Given the description of an element on the screen output the (x, y) to click on. 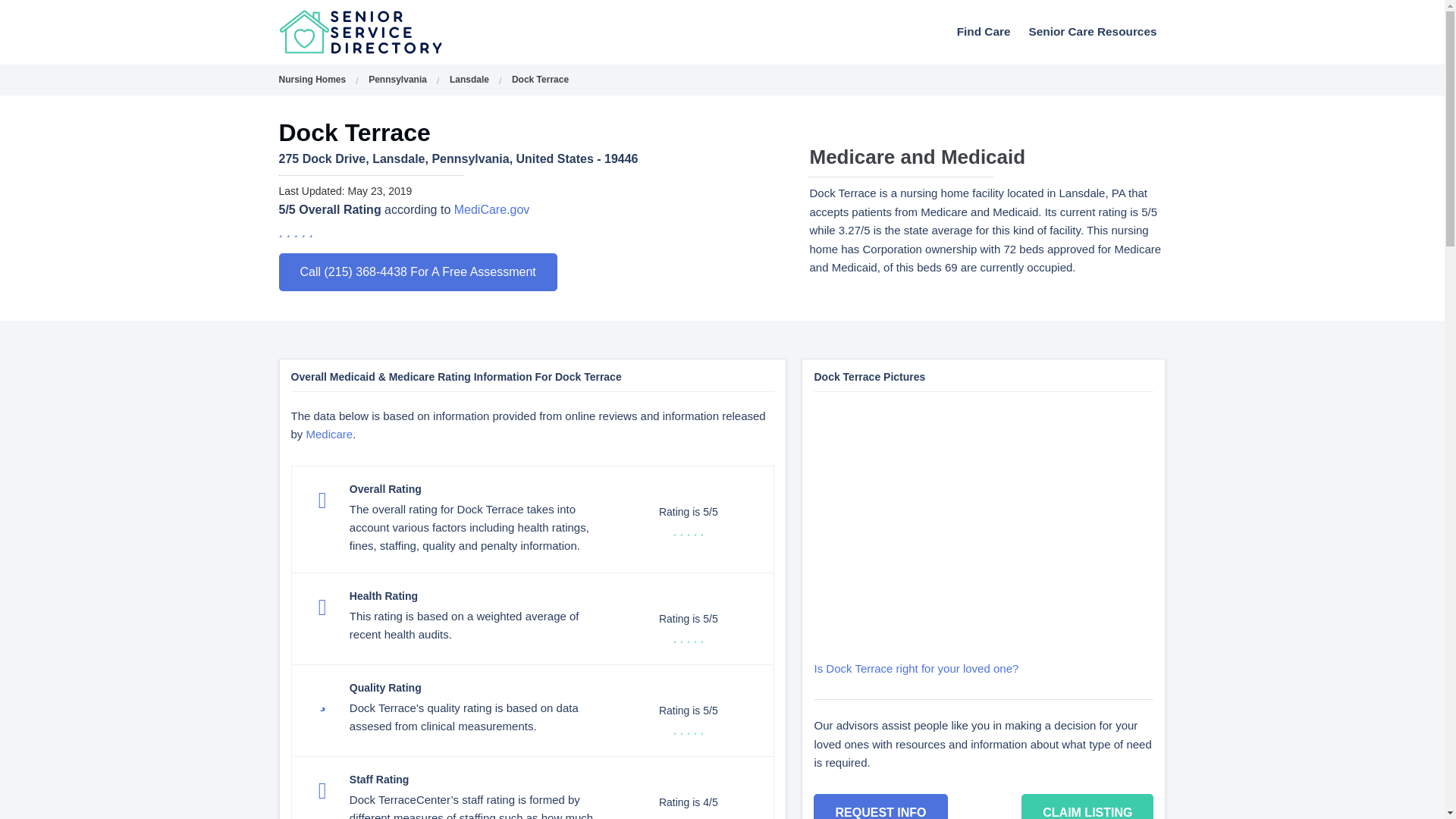
Find Care (983, 31)
CLAIM LISTING (1087, 806)
Senior Service Directory (400, 31)
Medicare (329, 433)
MediCare.gov (491, 209)
Lansdale (469, 80)
Nursing Homes (312, 80)
Pennsylvania (397, 80)
REQUEST INFO (880, 806)
Dock Terrace (540, 80)
